Given the description of an element on the screen output the (x, y) to click on. 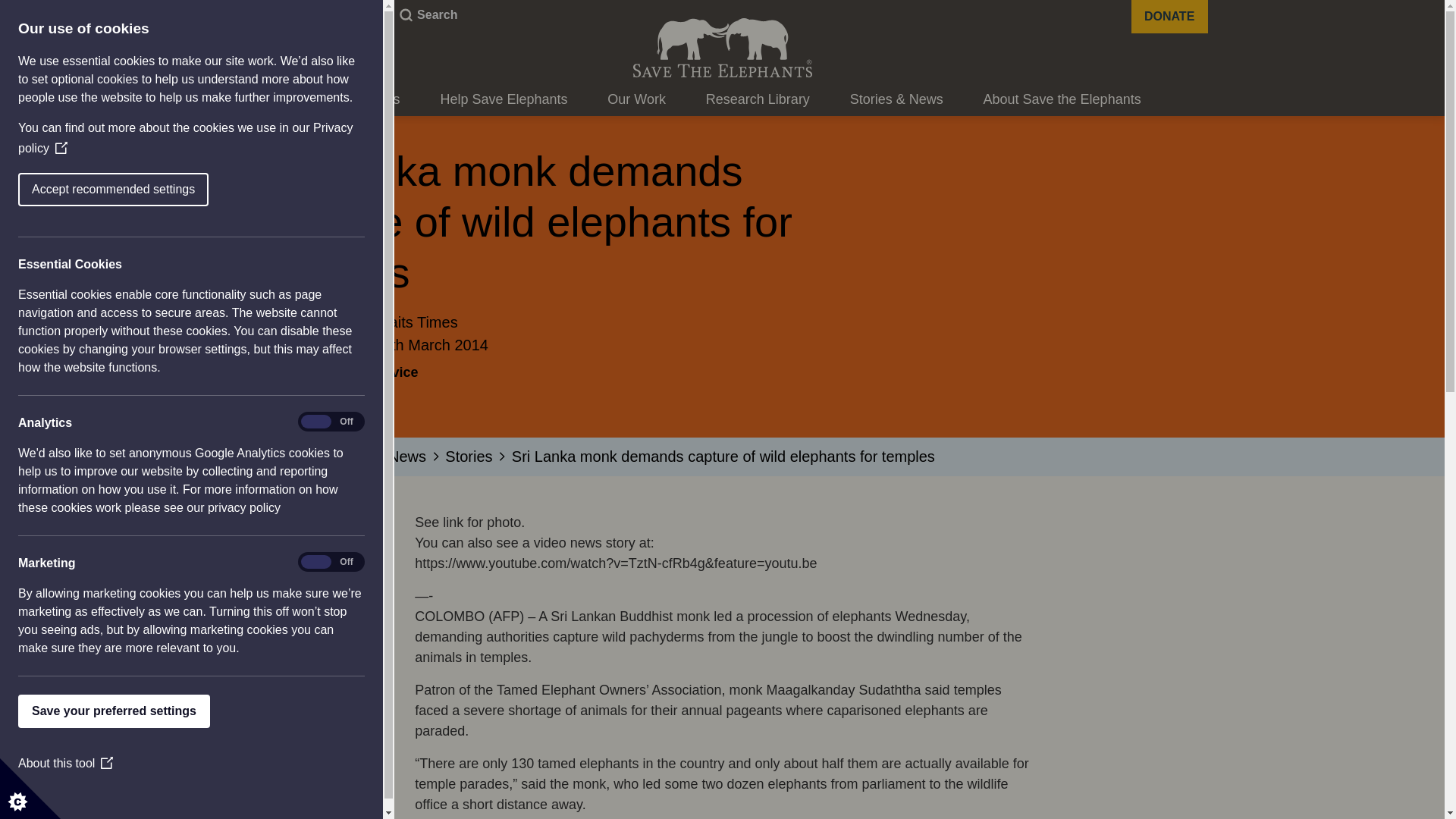
About Elephants (349, 99)
Help Save Elephants (503, 99)
Search submit (403, 15)
About Save the Elephants (1062, 99)
Our Work (636, 99)
Save the Elephants (720, 47)
Research Library (757, 99)
